Given the description of an element on the screen output the (x, y) to click on. 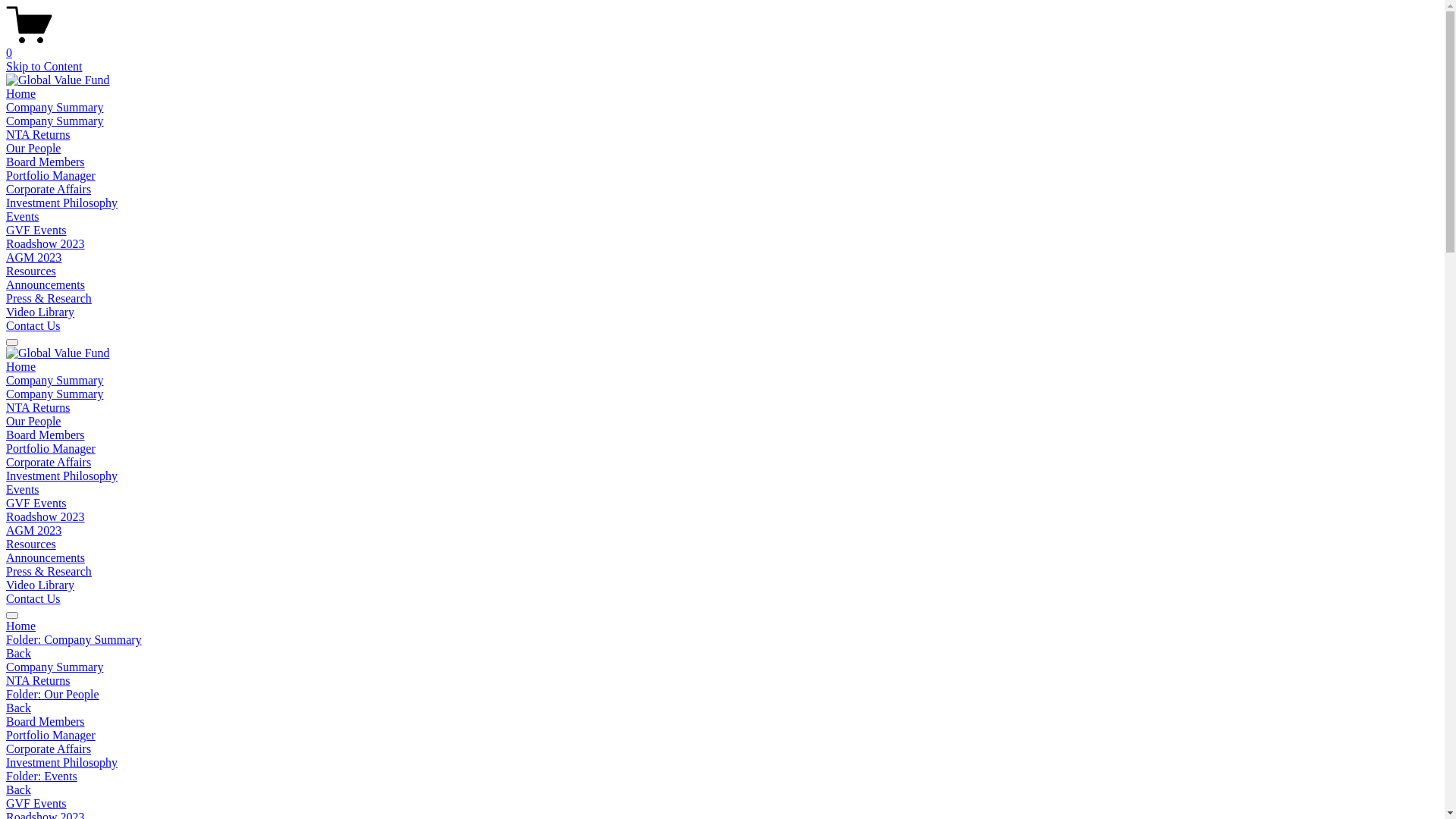
Portfolio Manager Element type: text (50, 175)
Home Element type: text (20, 93)
GVF Events Element type: text (722, 803)
Skip to Content Element type: text (43, 65)
Contact Us Element type: text (33, 325)
Corporate Affairs Element type: text (48, 461)
Resources Element type: text (31, 543)
Press & Research Element type: text (48, 570)
AGM 2023 Element type: text (33, 530)
Folder: Our People Element type: text (722, 694)
Press & Research Element type: text (48, 297)
Events Element type: text (22, 216)
NTA Returns Element type: text (722, 680)
Folder: Company Summary Element type: text (722, 639)
Roadshow 2023 Element type: text (45, 243)
Corporate Affairs Element type: text (48, 188)
Announcements Element type: text (45, 284)
Home Element type: text (20, 366)
Company Summary Element type: text (722, 667)
Back Element type: text (18, 789)
Back Element type: text (18, 707)
Home Element type: text (20, 625)
NTA Returns Element type: text (38, 134)
Company Summary Element type: text (54, 393)
Contact Us Element type: text (33, 598)
GVF Events Element type: text (36, 502)
Video Library Element type: text (40, 584)
Investment Philosophy Element type: text (61, 202)
Resources Element type: text (31, 270)
Events Element type: text (22, 489)
Board Members Element type: text (722, 721)
Back Element type: text (18, 652)
Announcements Element type: text (45, 557)
Video Library Element type: text (40, 311)
Investment Philosophy Element type: text (722, 762)
Board Members Element type: text (45, 161)
NTA Returns Element type: text (38, 407)
Portfolio Manager Element type: text (50, 448)
Investment Philosophy Element type: text (61, 475)
Roadshow 2023 Element type: text (45, 516)
Corporate Affairs Element type: text (722, 749)
Folder: Events Element type: text (722, 776)
Company Summary Element type: text (54, 379)
GVF Events Element type: text (36, 229)
AGM 2023 Element type: text (33, 257)
Our People Element type: text (33, 147)
Portfolio Manager Element type: text (722, 735)
Board Members Element type: text (45, 434)
Company Summary Element type: text (54, 120)
Company Summary Element type: text (54, 106)
0 Element type: text (722, 45)
Our People Element type: text (33, 420)
